Given the description of an element on the screen output the (x, y) to click on. 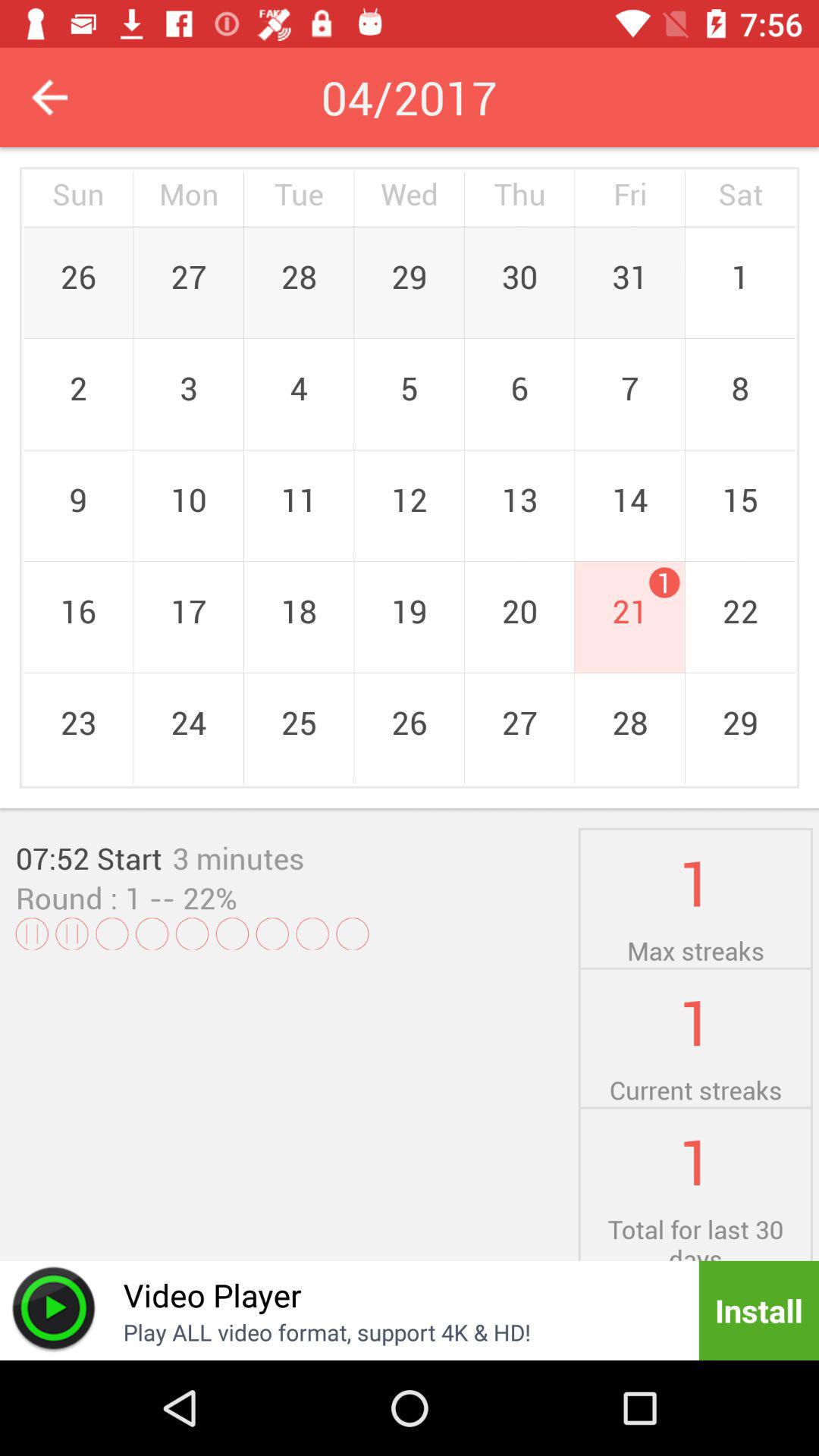
turn on the  -- 22% (189, 897)
